Given the description of an element on the screen output the (x, y) to click on. 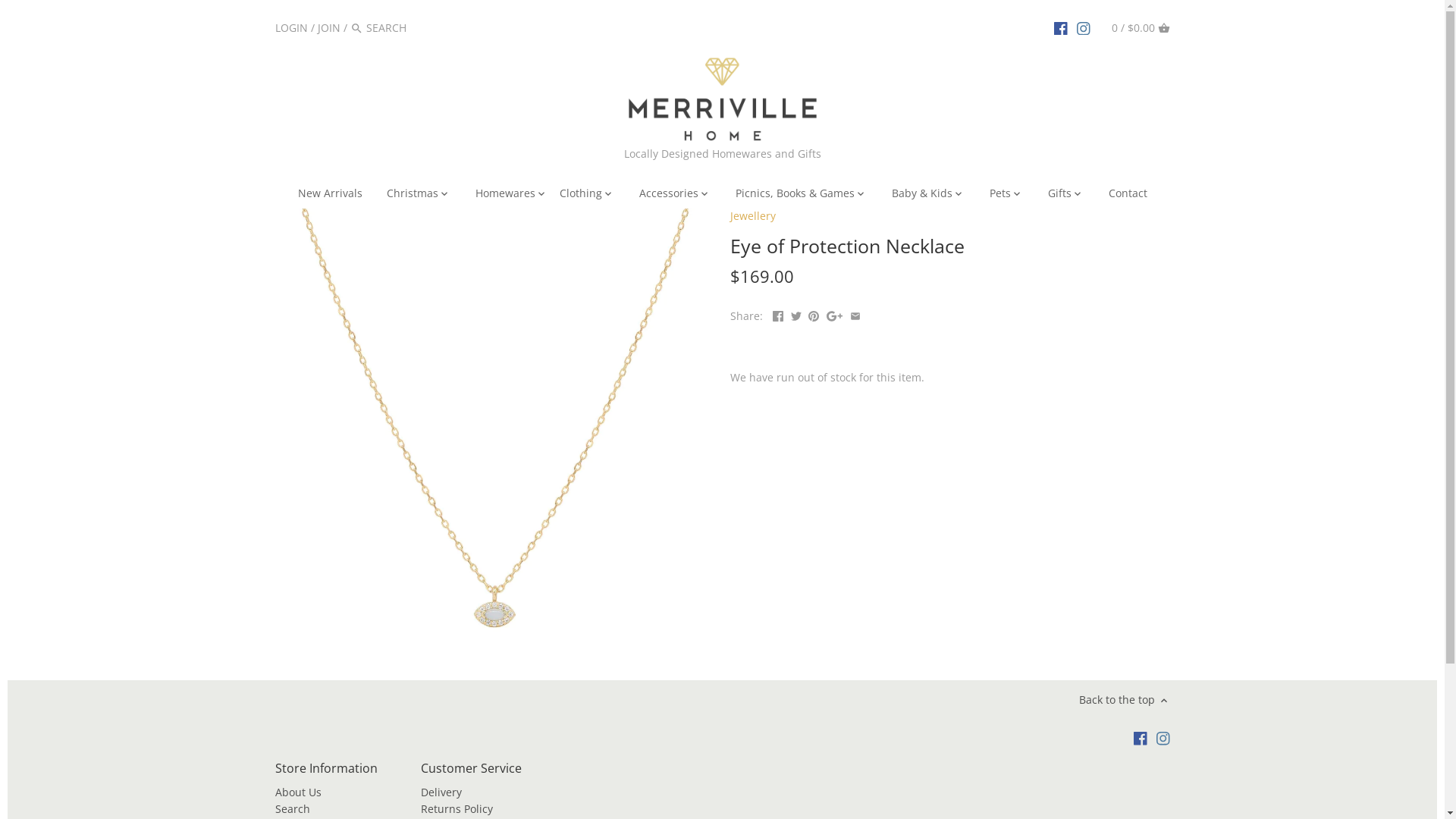
Search Element type: text (356, 28)
Gifts Element type: text (1059, 195)
Instagram Element type: text (1163, 737)
Twitter Element type: text (795, 314)
Returns Policy Element type: text (456, 808)
Search Element type: text (291, 808)
FACEBOOK Element type: text (1060, 26)
JOIN Element type: text (327, 27)
Picnics, Books & Games Element type: text (794, 195)
Back to the top Element type: text (1123, 699)
Accessories Element type: text (667, 195)
0 / $0.00 CART Element type: text (1140, 27)
Homewares Element type: text (504, 195)
About Us Element type: text (297, 791)
Email Element type: text (855, 314)
LOGIN Element type: text (290, 27)
Pinterest Element type: text (813, 314)
Pets Element type: text (999, 195)
Facebook Element type: text (777, 314)
Christmas Element type: text (412, 195)
Baby & Kids Element type: text (922, 195)
Facebook Element type: text (1140, 737)
Clothing Element type: text (580, 195)
Jewellery Element type: text (752, 215)
INSTAGRAM Element type: text (1083, 26)
Contact Element type: text (1127, 195)
New Arrivals Element type: text (329, 195)
GooglePlus Element type: text (834, 314)
Delivery Element type: text (440, 791)
